Given the description of an element on the screen output the (x, y) to click on. 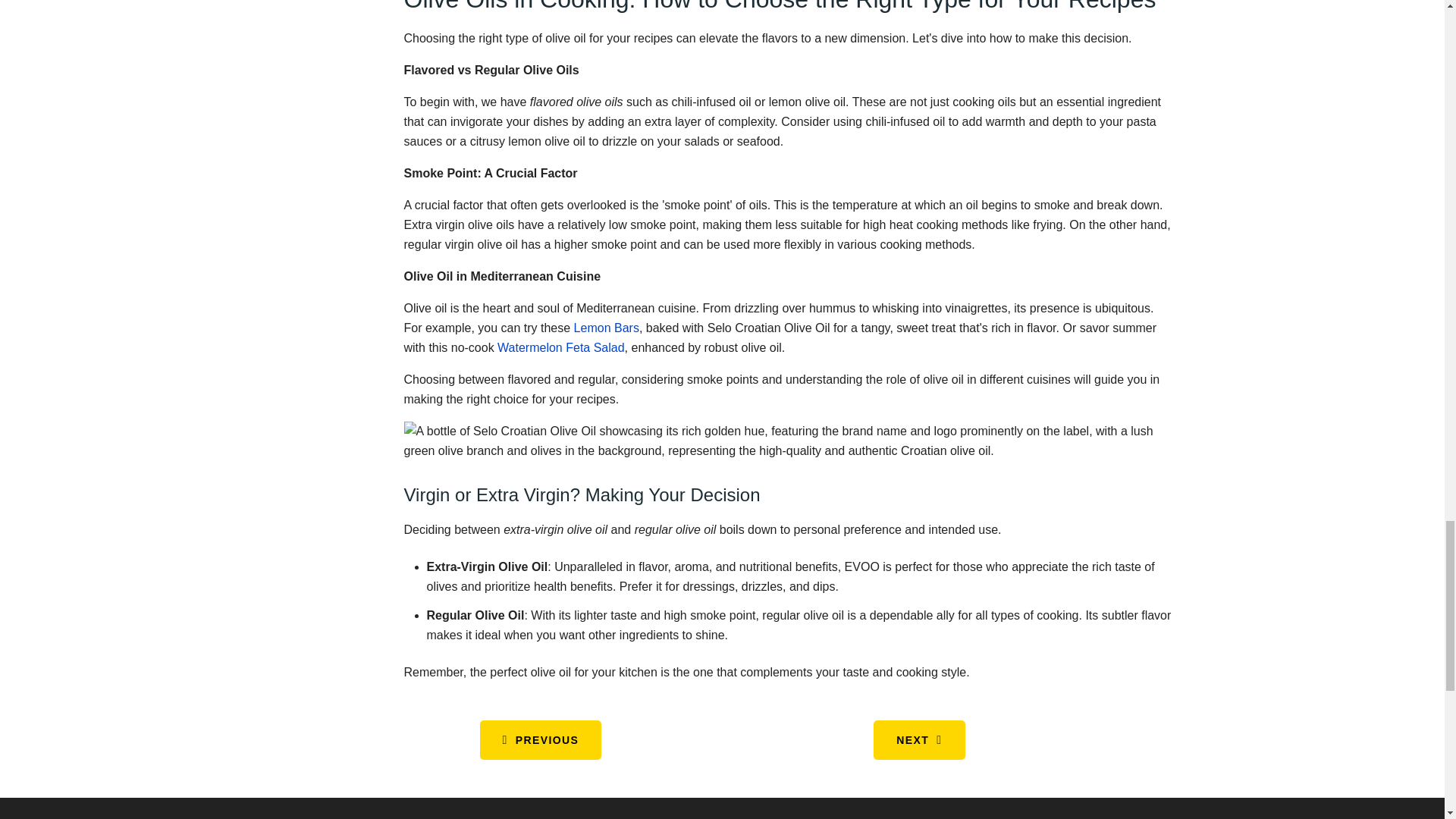
NEXT (918, 740)
Lemon Bars (606, 327)
PREVIOUS (540, 740)
Watermelon Feta Salad (560, 347)
